Given the description of an element on the screen output the (x, y) to click on. 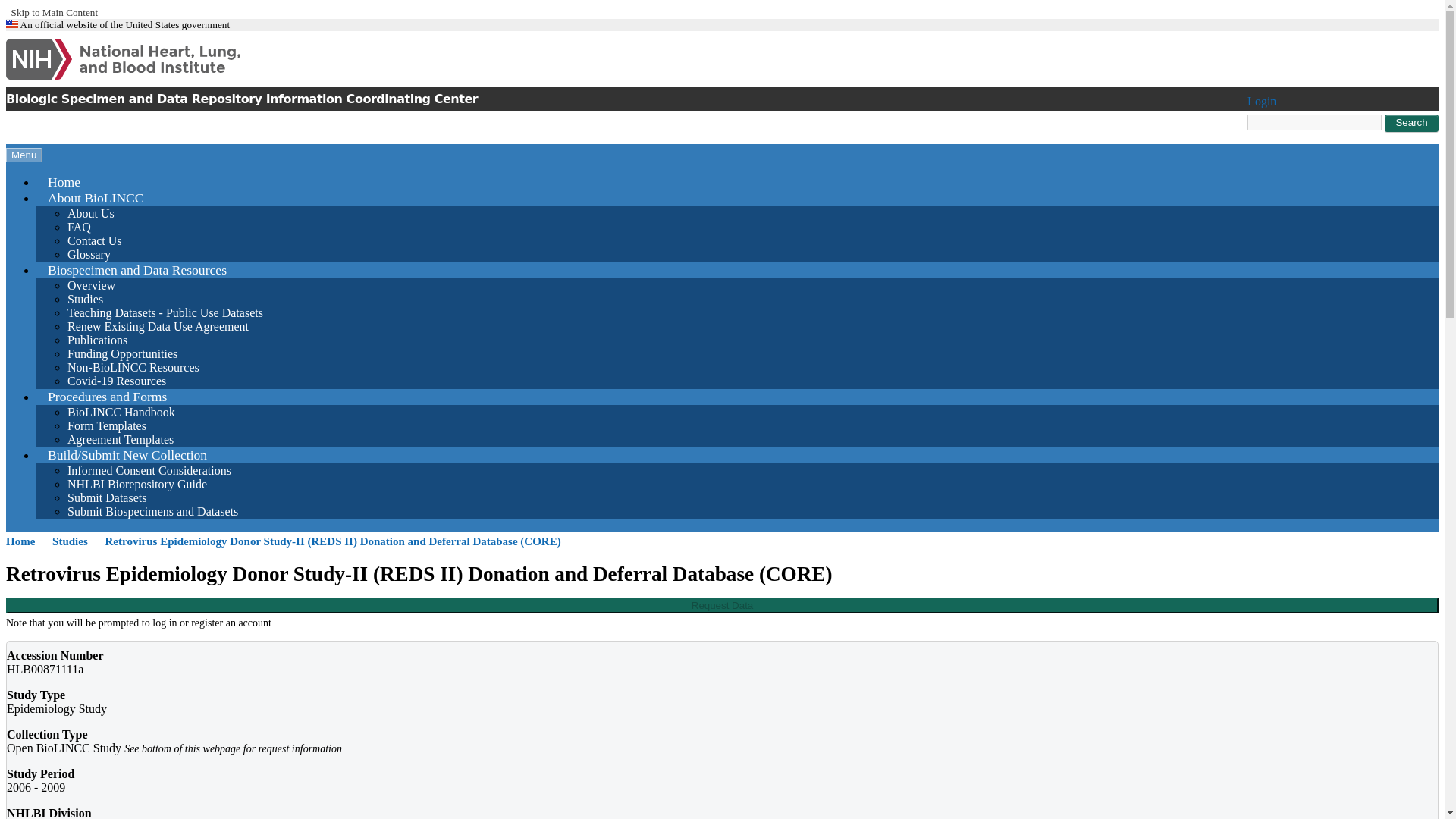
Covid-19 Resources (115, 380)
NHLBI Biorepository Guide (136, 483)
Funding Opportunities (121, 353)
Overview (90, 285)
Form Templates (106, 425)
Contact Us (94, 240)
About BioLINCC (95, 197)
Studies (76, 541)
Procedures and Forms (106, 396)
NHLBI Home (146, 58)
